Given the description of an element on the screen output the (x, y) to click on. 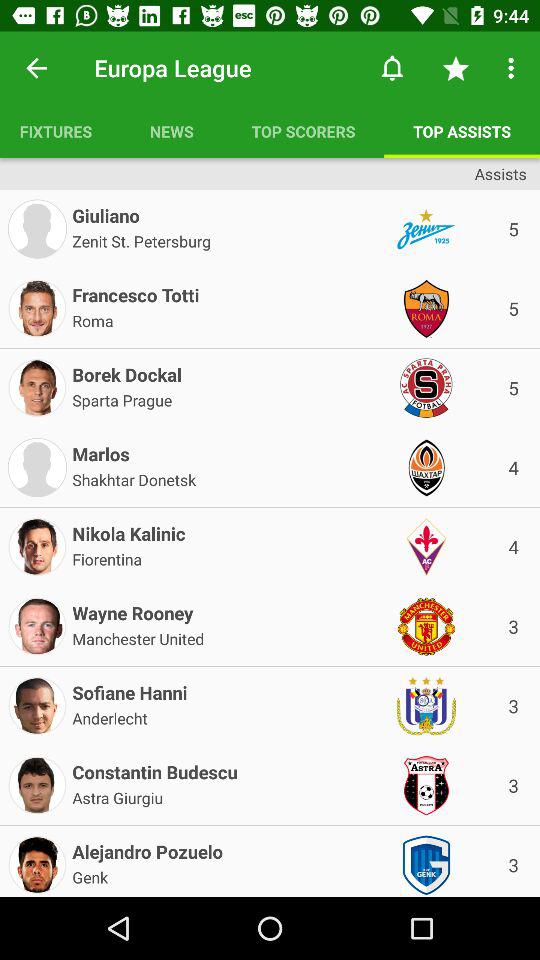
select the item to the left of the top assists (303, 131)
